Given the description of an element on the screen output the (x, y) to click on. 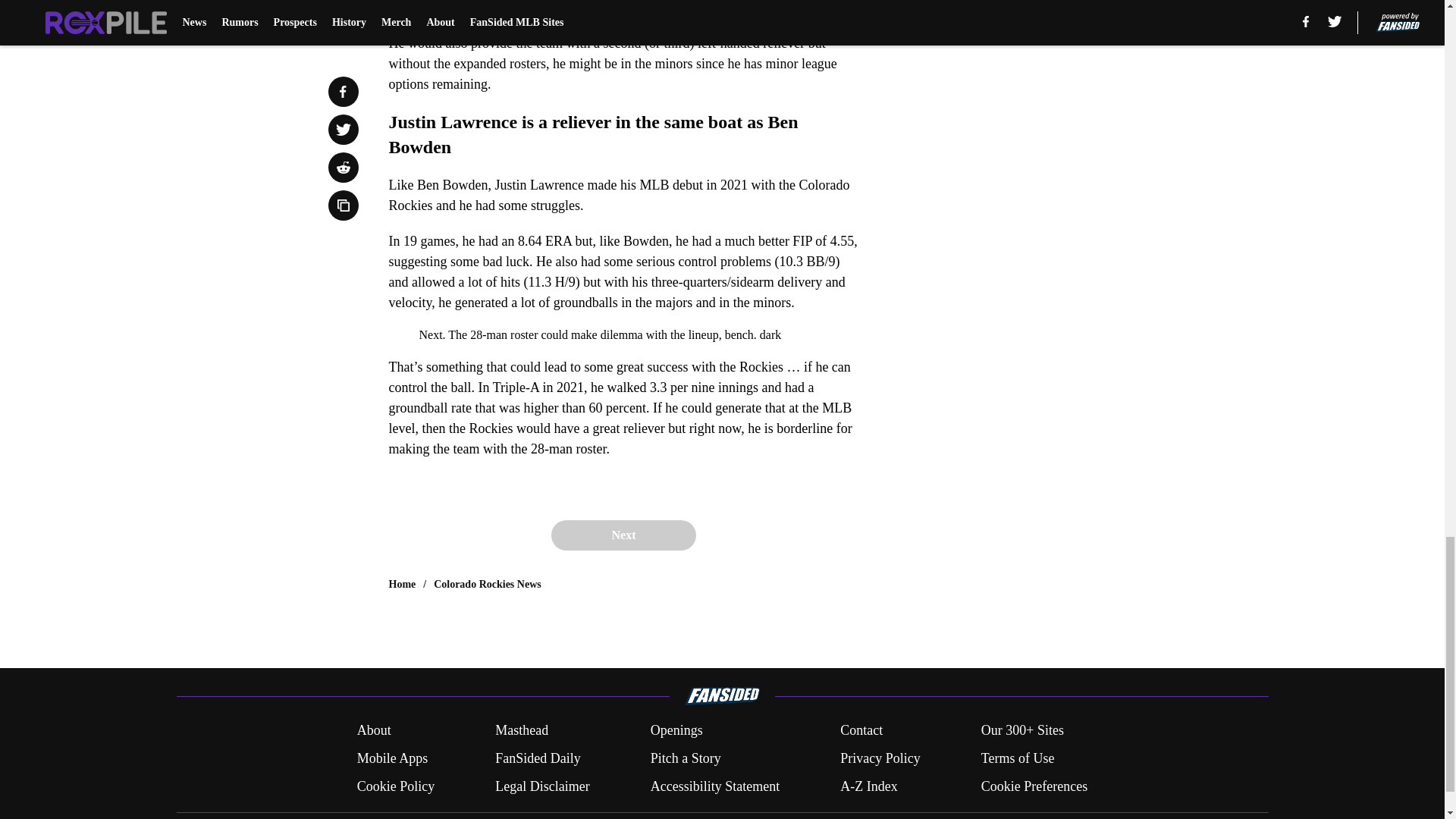
About (373, 730)
A-Z Index (868, 786)
Cookie Preferences (1034, 786)
Legal Disclaimer (542, 786)
Pitch a Story (685, 758)
Masthead (521, 730)
FanSided Daily (537, 758)
Accessibility Statement (714, 786)
Openings (676, 730)
Colorado Rockies News (487, 584)
